Given the description of an element on the screen output the (x, y) to click on. 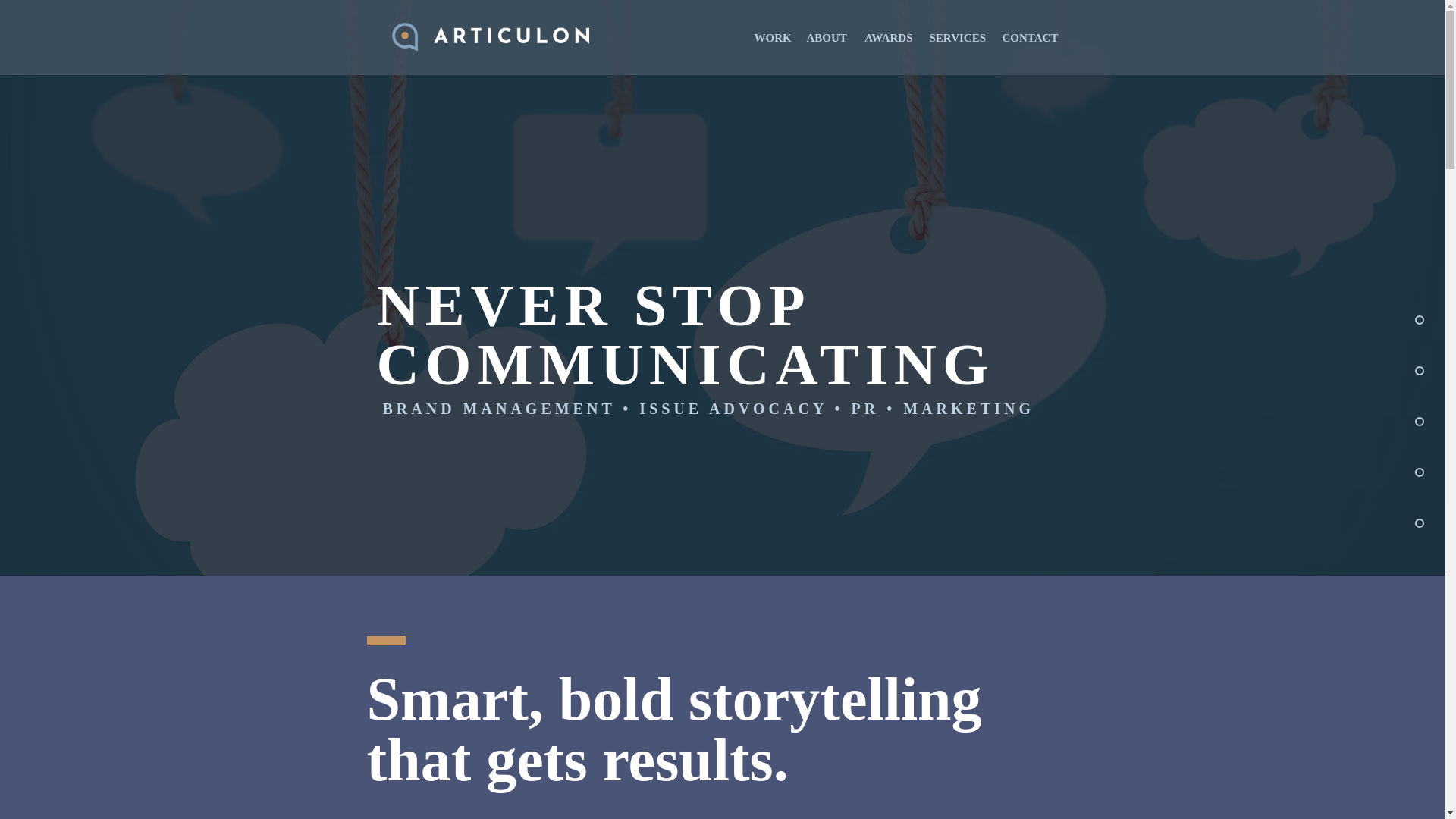
SERVICES (956, 37)
ABOUT (825, 37)
WORK (771, 37)
CONTACT (1028, 37)
AWARDS (888, 37)
